Given the description of an element on the screen output the (x, y) to click on. 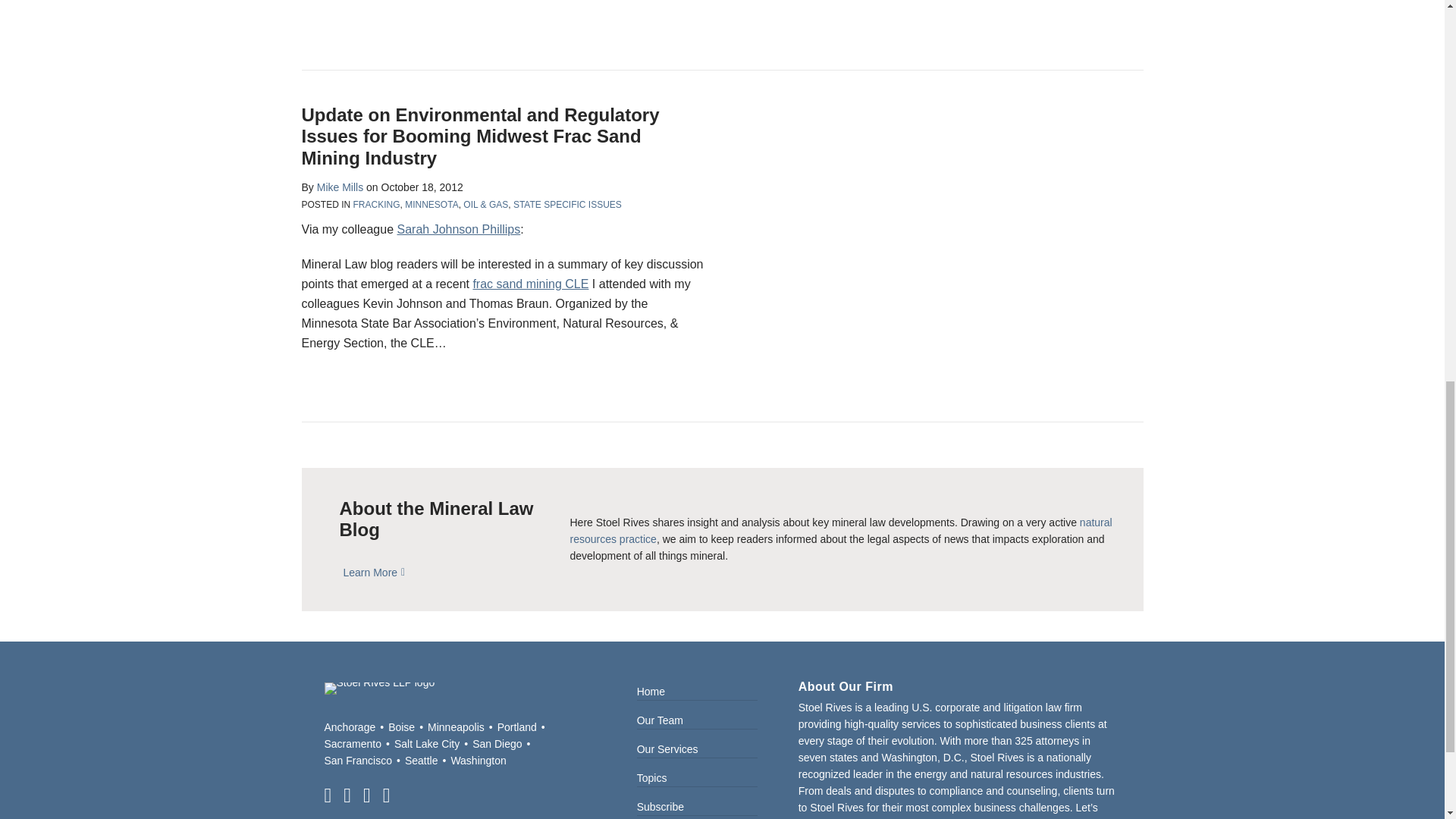
Mike Mills (339, 186)
FRACKING (376, 204)
